Given the description of an element on the screen output the (x, y) to click on. 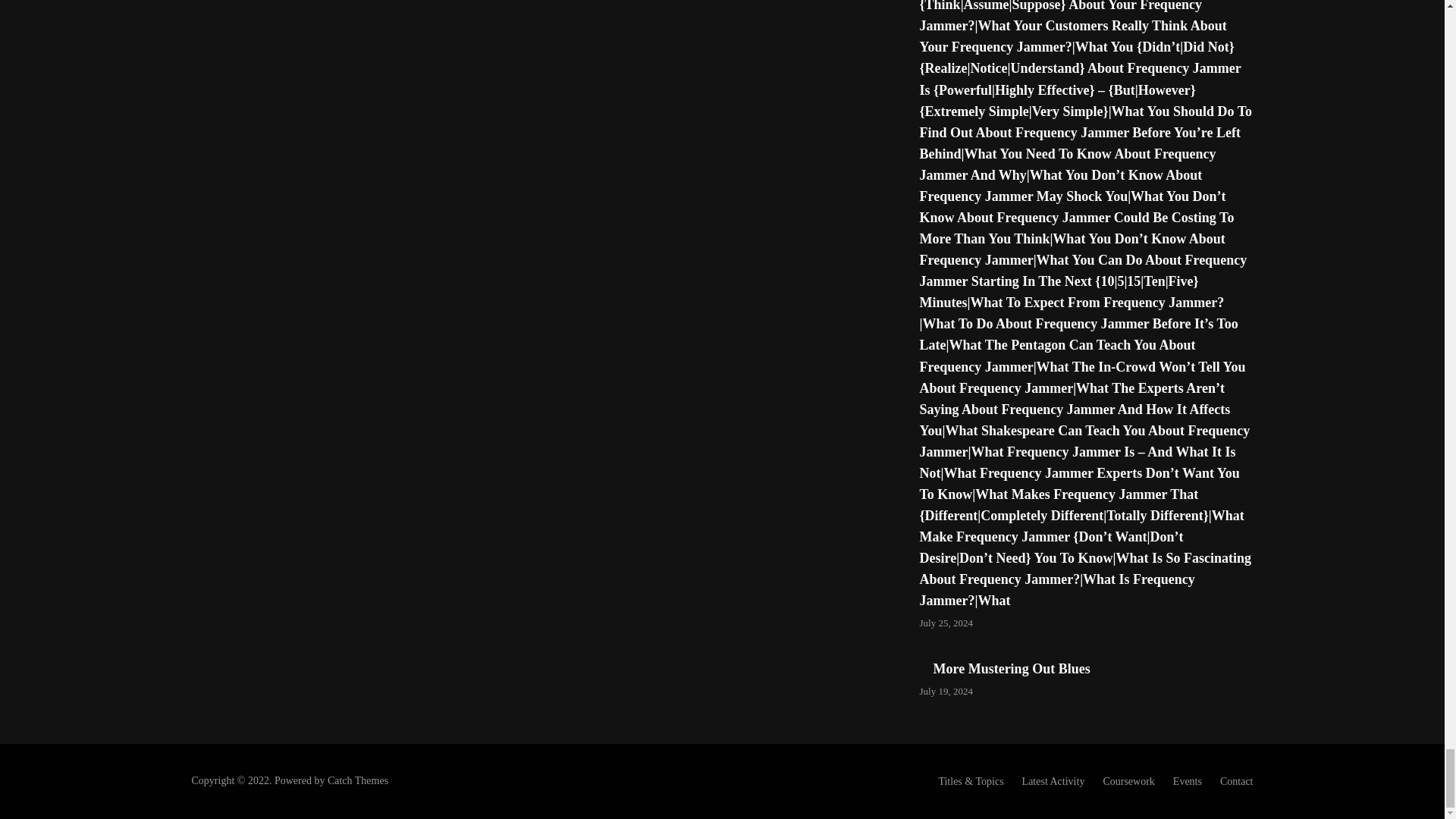
Contact (1236, 780)
Events (1187, 780)
Latest Activity (1053, 780)
Coursework (1128, 780)
More Mustering Out Blues (1011, 668)
Catch Themes (357, 780)
